Given the description of an element on the screen output the (x, y) to click on. 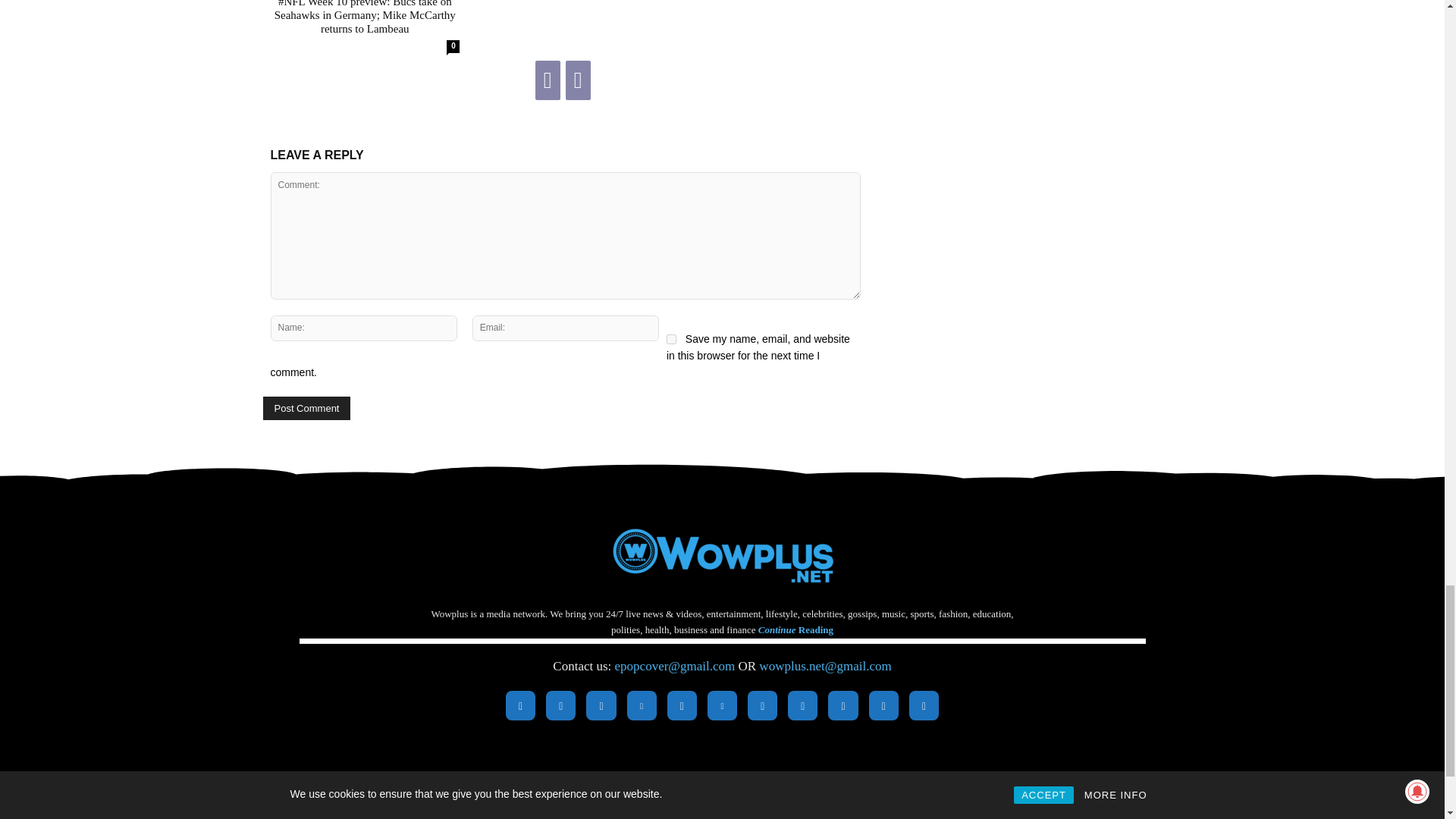
Post Comment (306, 408)
yes (671, 338)
